Given the description of an element on the screen output the (x, y) to click on. 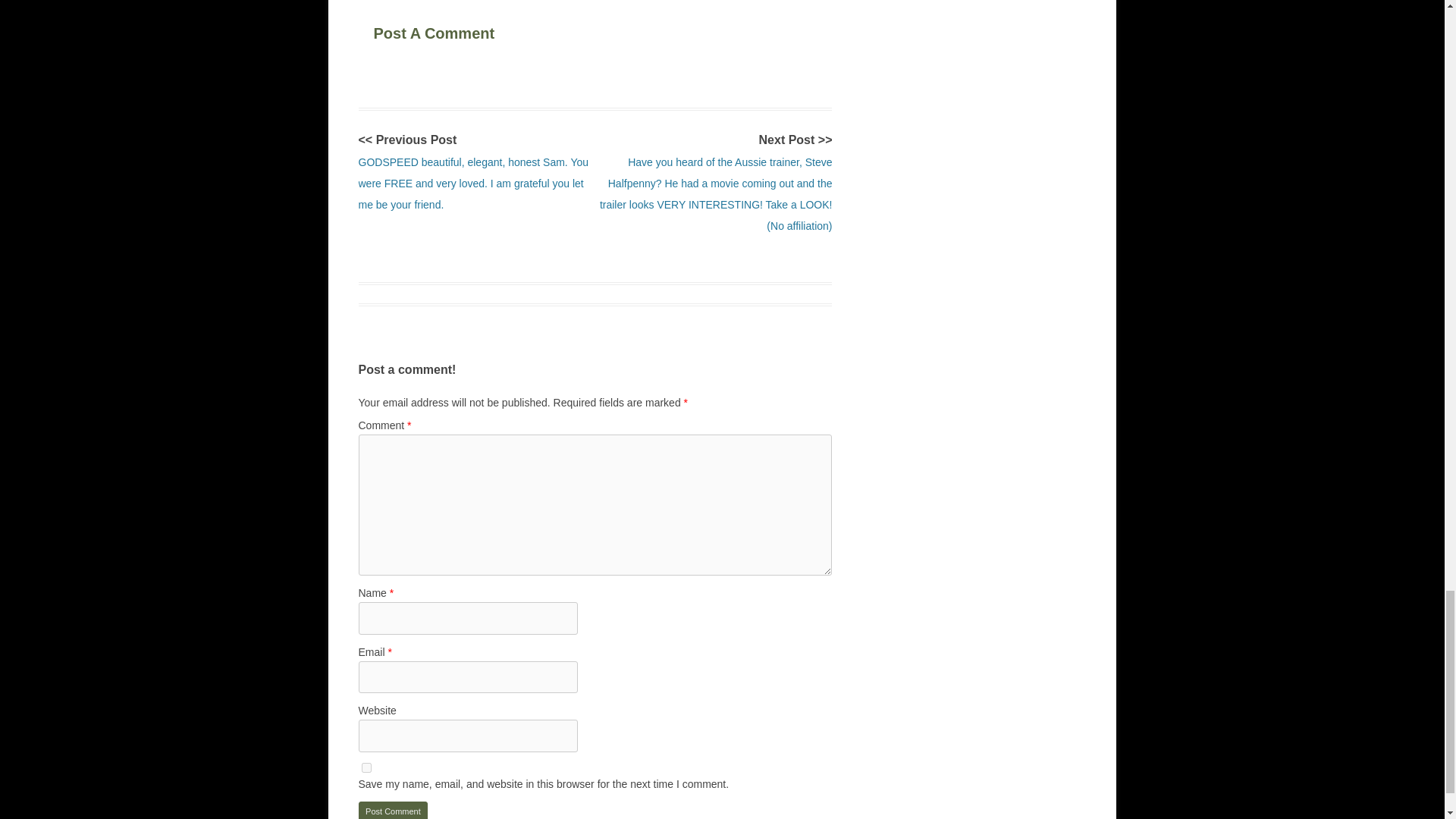
yes (366, 767)
Post A Comment (465, 30)
